Given the description of an element on the screen output the (x, y) to click on. 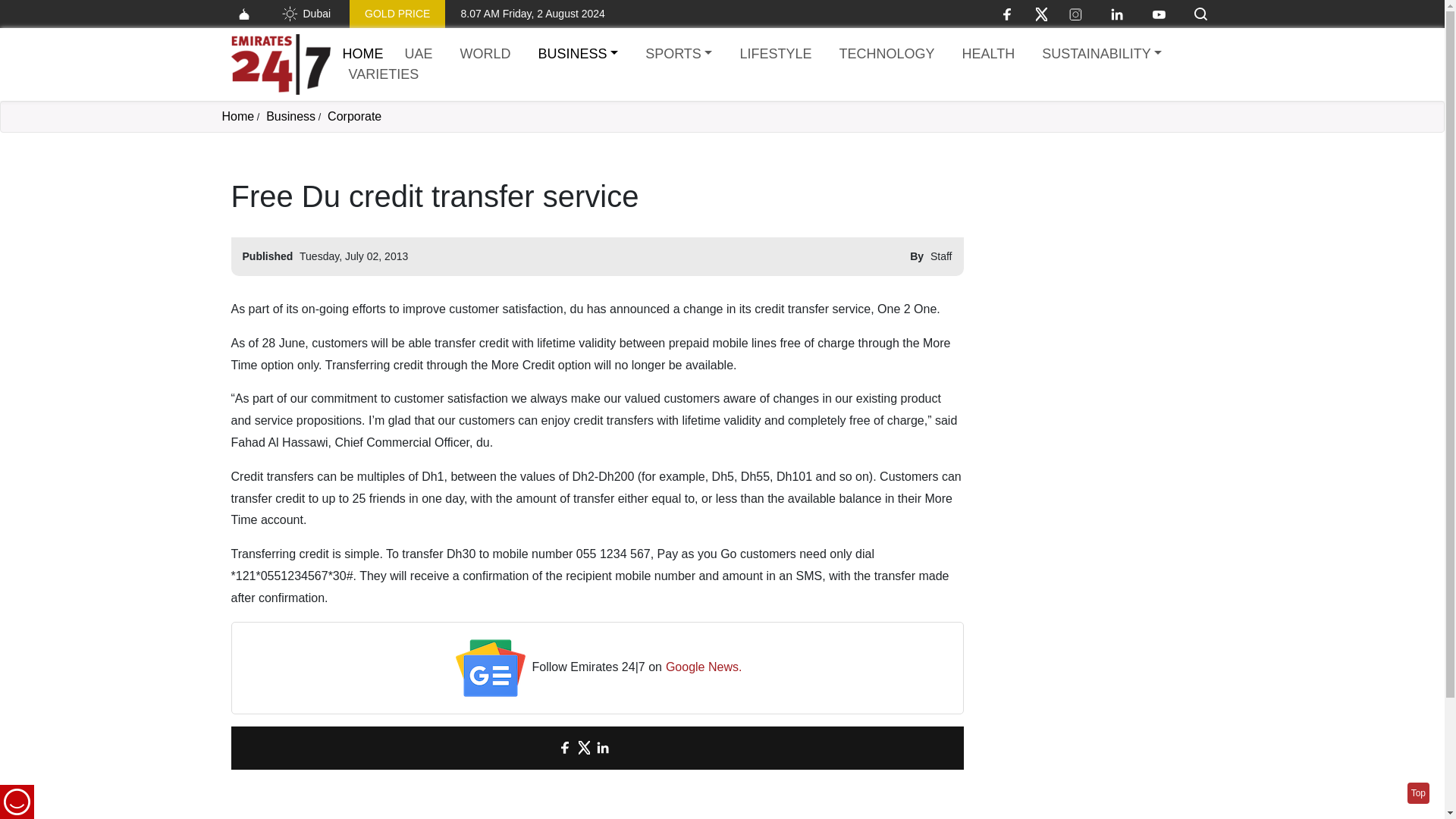
SUSTAINABILITY (1101, 54)
Go to top (1418, 792)
BUSINESS (578, 54)
Google News. (703, 667)
GOLD PRICE (397, 13)
Dubai (305, 13)
Business (290, 115)
Home (280, 64)
Home (363, 53)
Home (237, 115)
VARIETIES (383, 74)
Corporate (354, 115)
LIFESTYLE (774, 54)
TECHNOLOGY (886, 54)
HOME (363, 53)
